Given the description of an element on the screen output the (x, y) to click on. 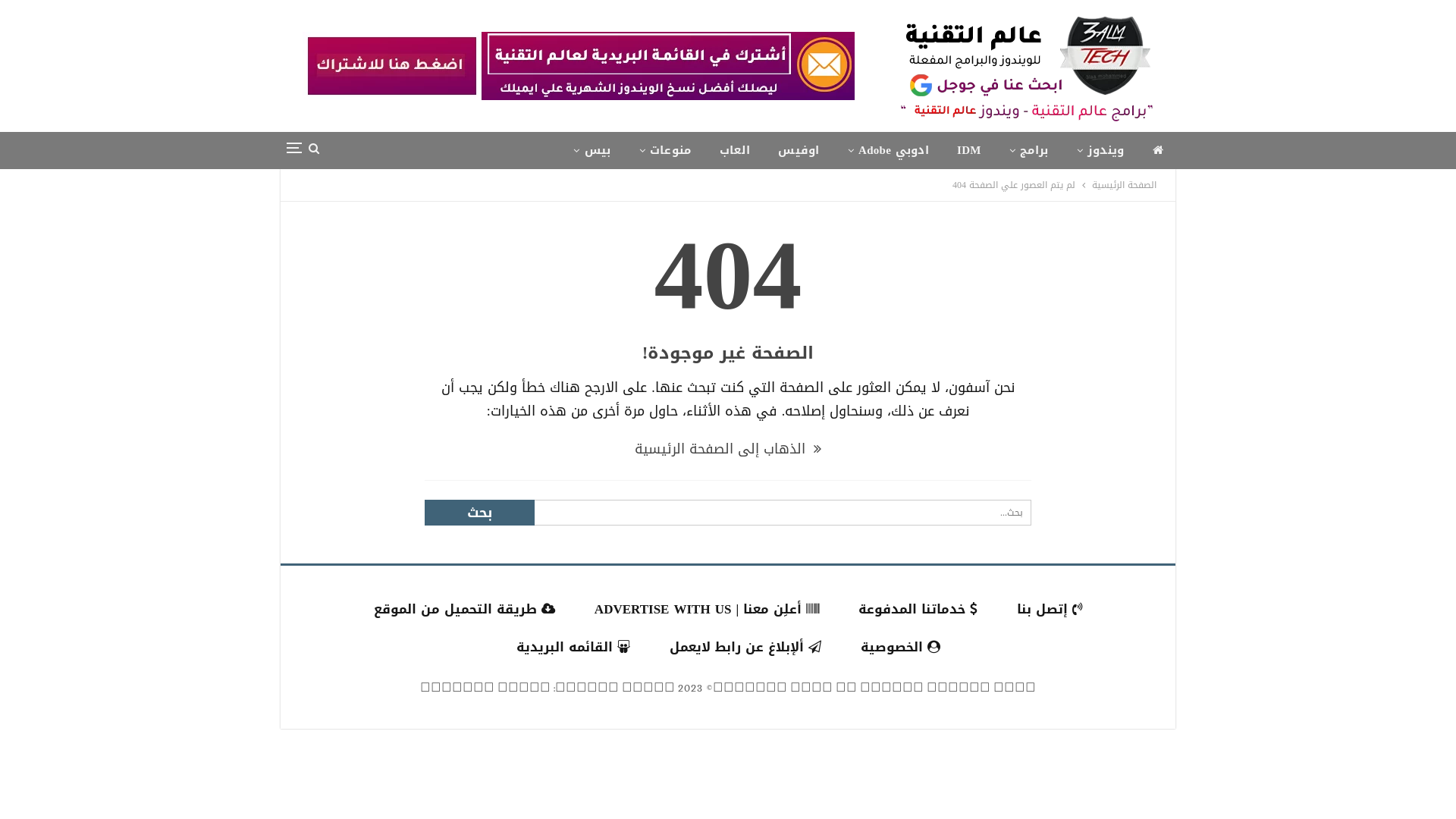
IDM Element type: text (968, 150)
